Given the description of an element on the screen output the (x, y) to click on. 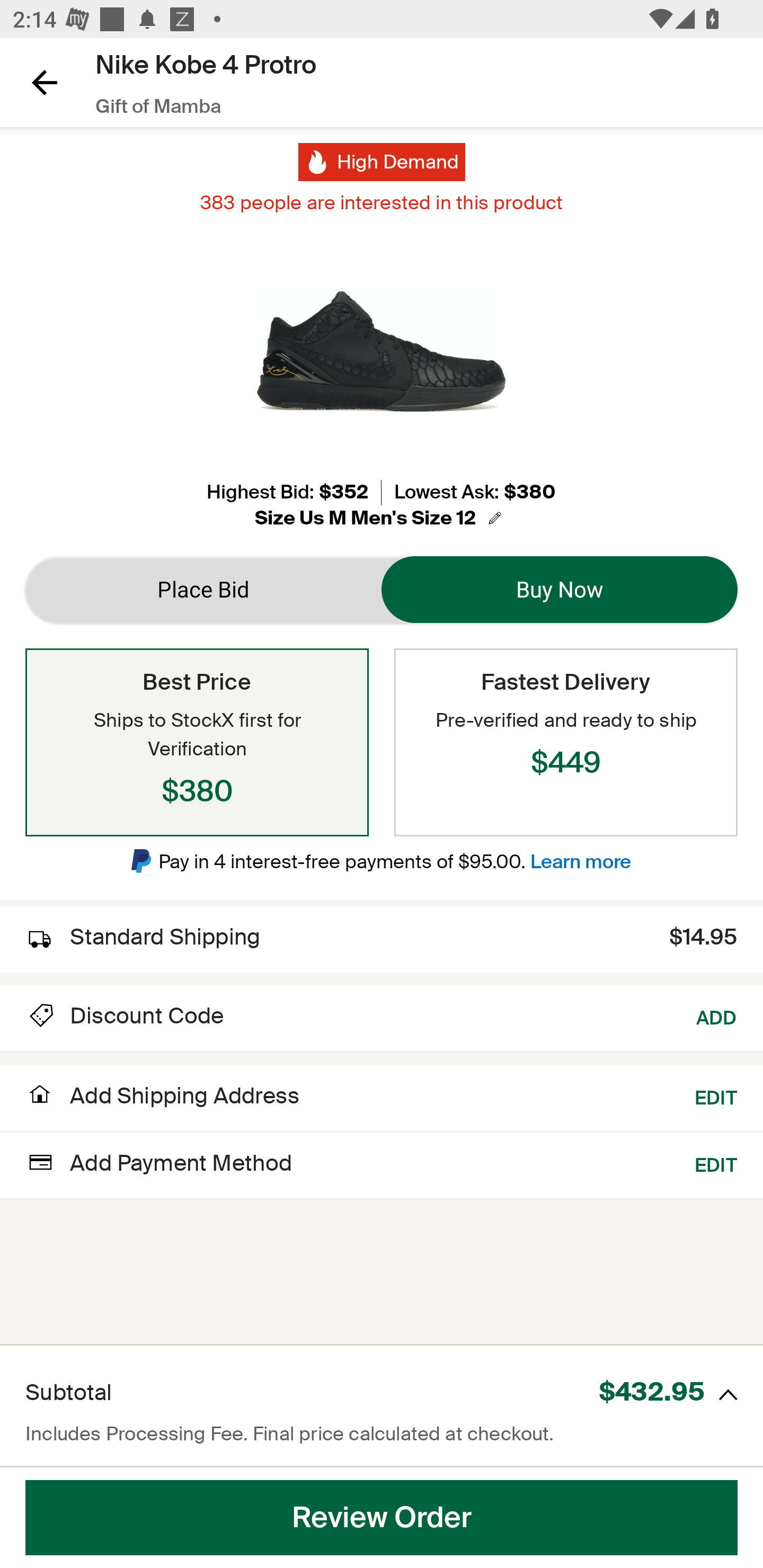
Navigate up (44, 82)
Sneaker Image (381, 350)
Size Us M Men's Size 12 An image (380, 517)
Add Discount Code Discount Code (124, 1016)
ADD (717, 1016)
Edit Payment Icon Add Shipping Address (162, 1100)
EDIT (716, 1095)
Edit Payment Icon Add Payment Method (158, 1162)
EDIT (716, 1162)
Review Order (381, 1517)
